Given the description of an element on the screen output the (x, y) to click on. 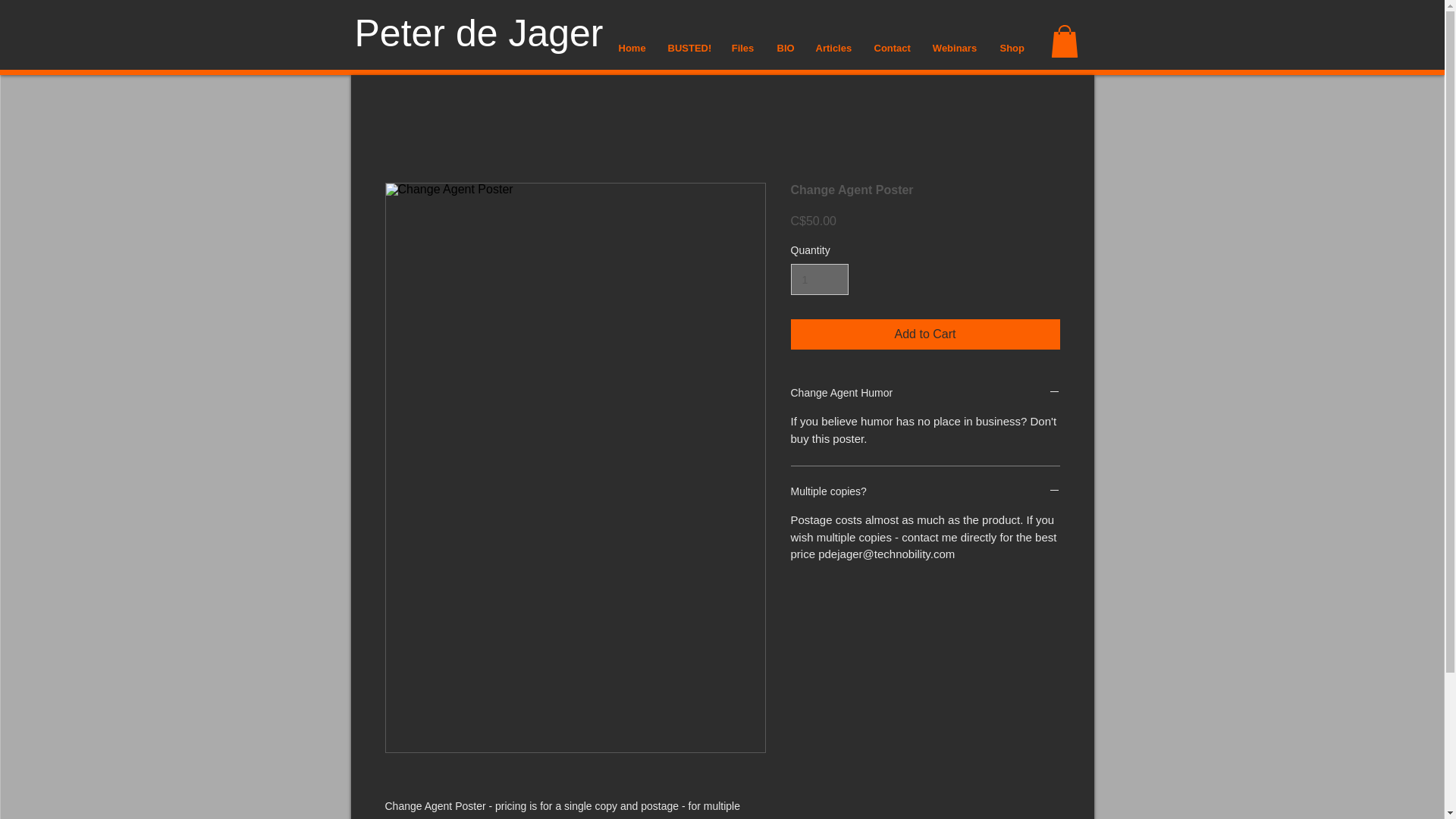
Multiple copies? (924, 491)
Add to Cart (924, 334)
Webinars (954, 47)
Contact (892, 47)
Home (631, 47)
Shop (1011, 47)
Change Agent Humor (924, 392)
BIO (785, 47)
Peter de Jager (479, 33)
Files (742, 47)
